Given the description of an element on the screen output the (x, y) to click on. 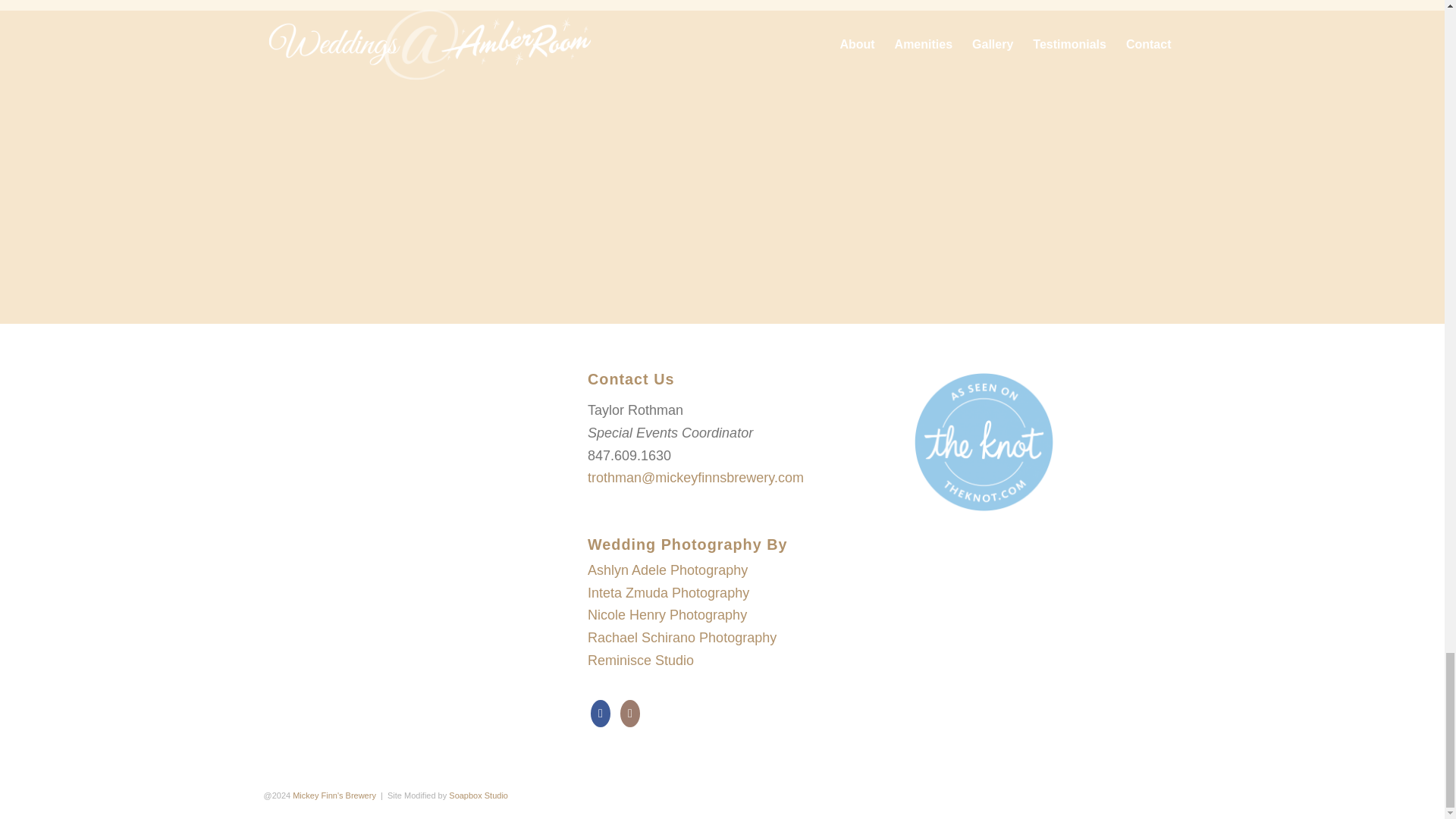
Submit (722, 228)
Inteta Zmuda Photography (668, 592)
Nicole Henry Photography (667, 614)
Reminisce Studio (641, 660)
Rachael Schirano Photography (682, 637)
Ashlyn Adele Photography (668, 570)
